Given the description of an element on the screen output the (x, y) to click on. 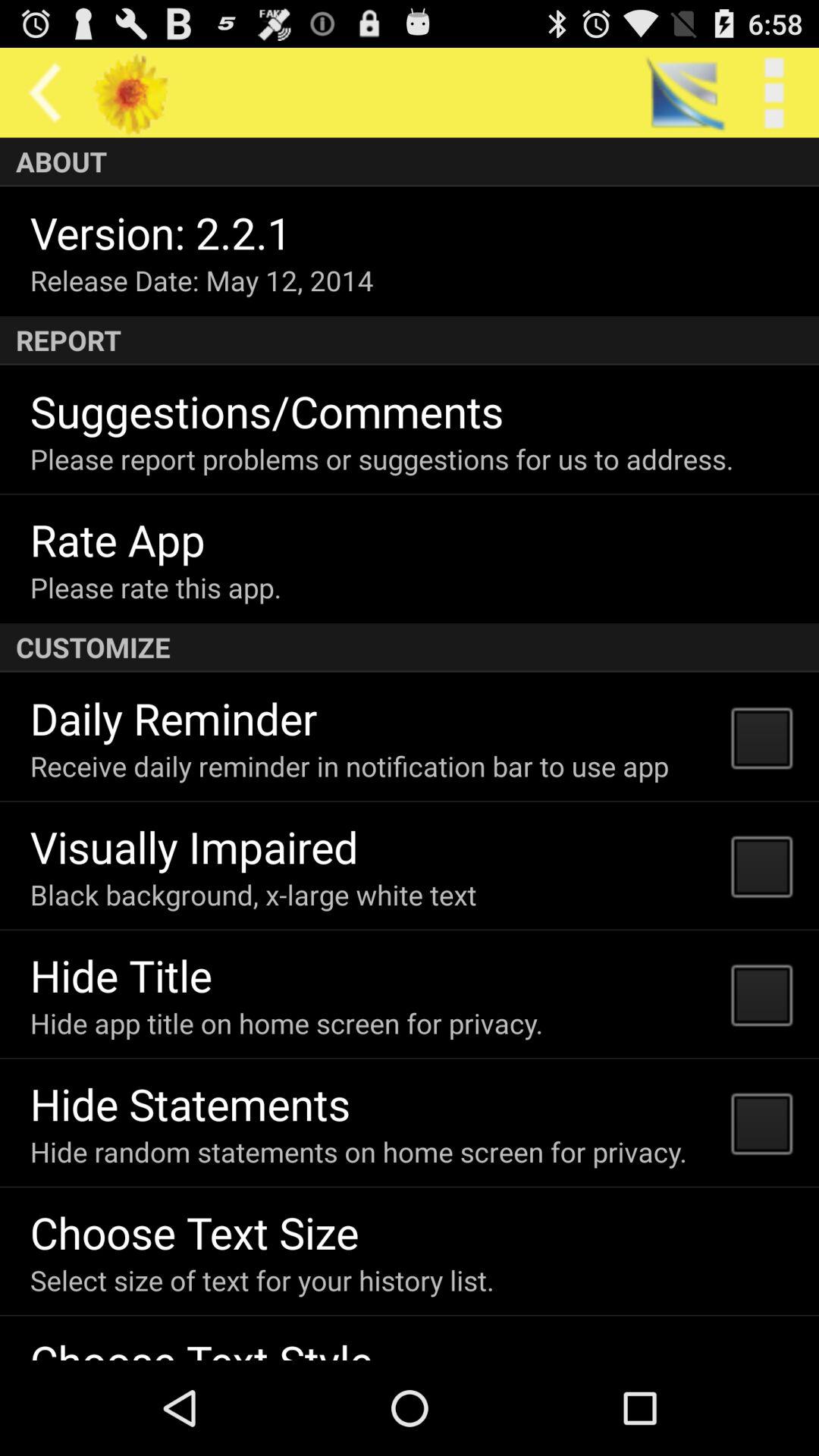
flip to the version 2 2 icon (160, 232)
